Given the description of an element on the screen output the (x, y) to click on. 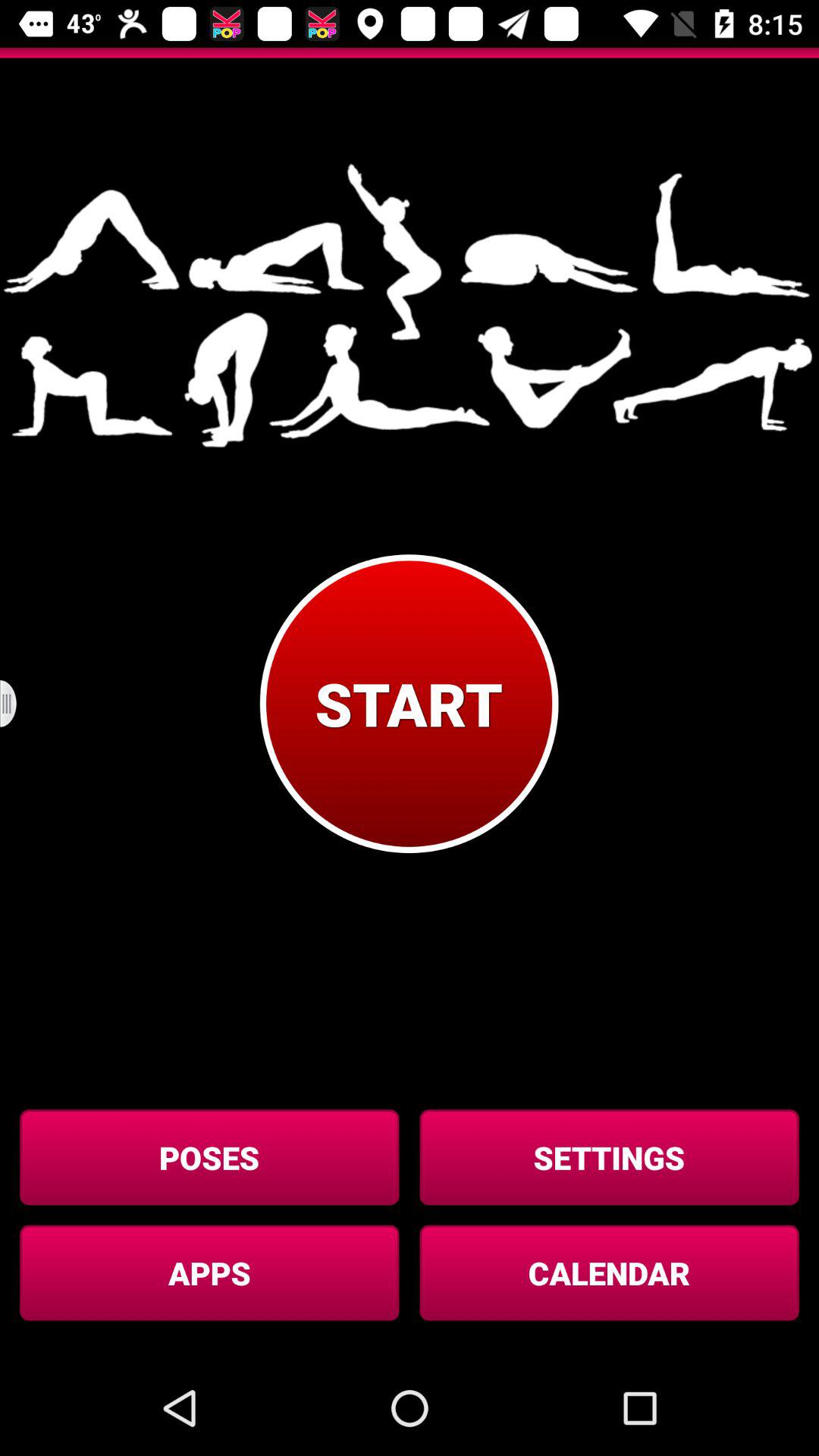
flip until the start icon (408, 703)
